Given the description of an element on the screen output the (x, y) to click on. 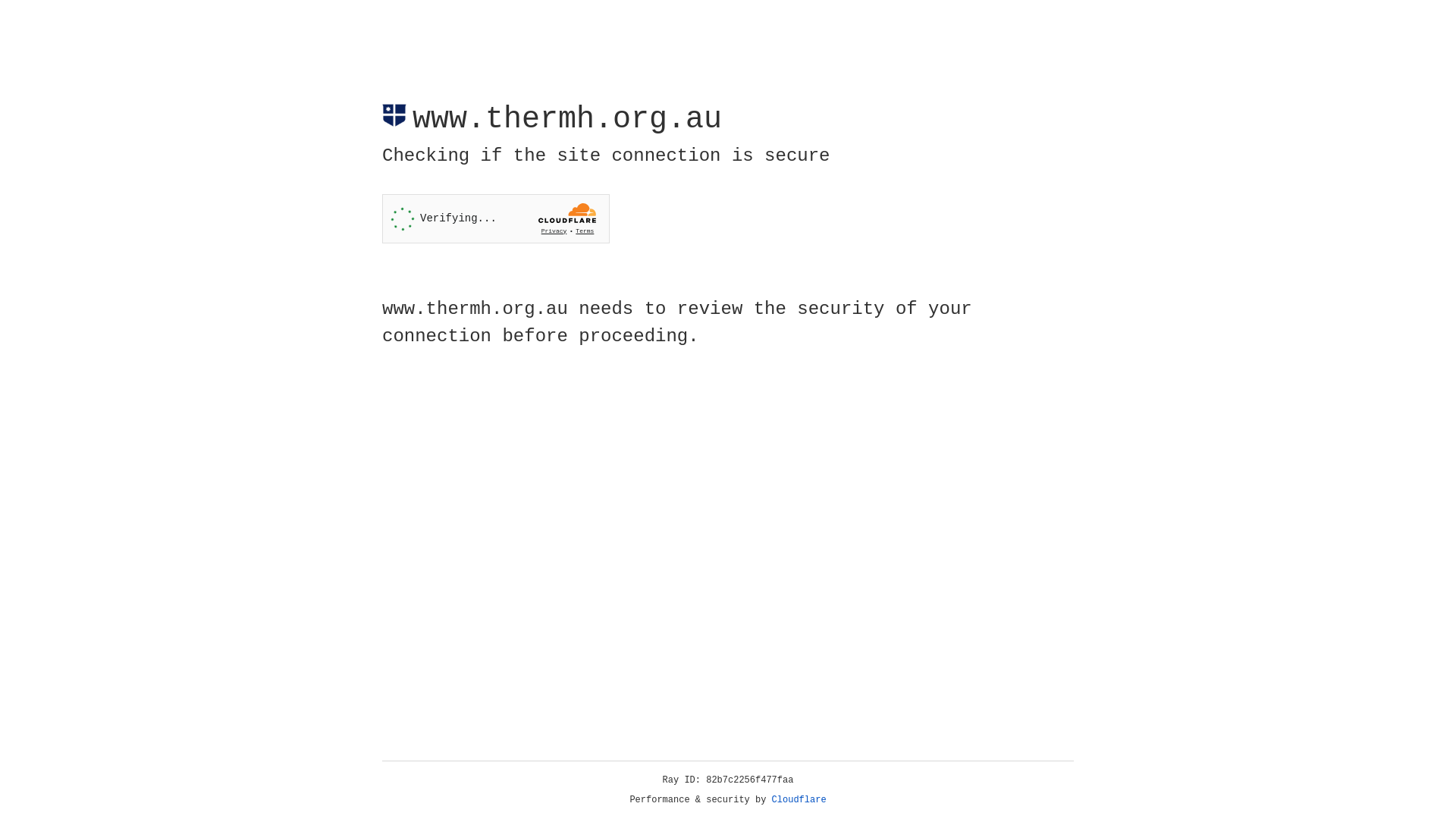
Widget containing a Cloudflare security challenge Element type: hover (495, 218)
Cloudflare Element type: text (798, 799)
